Given the description of an element on the screen output the (x, y) to click on. 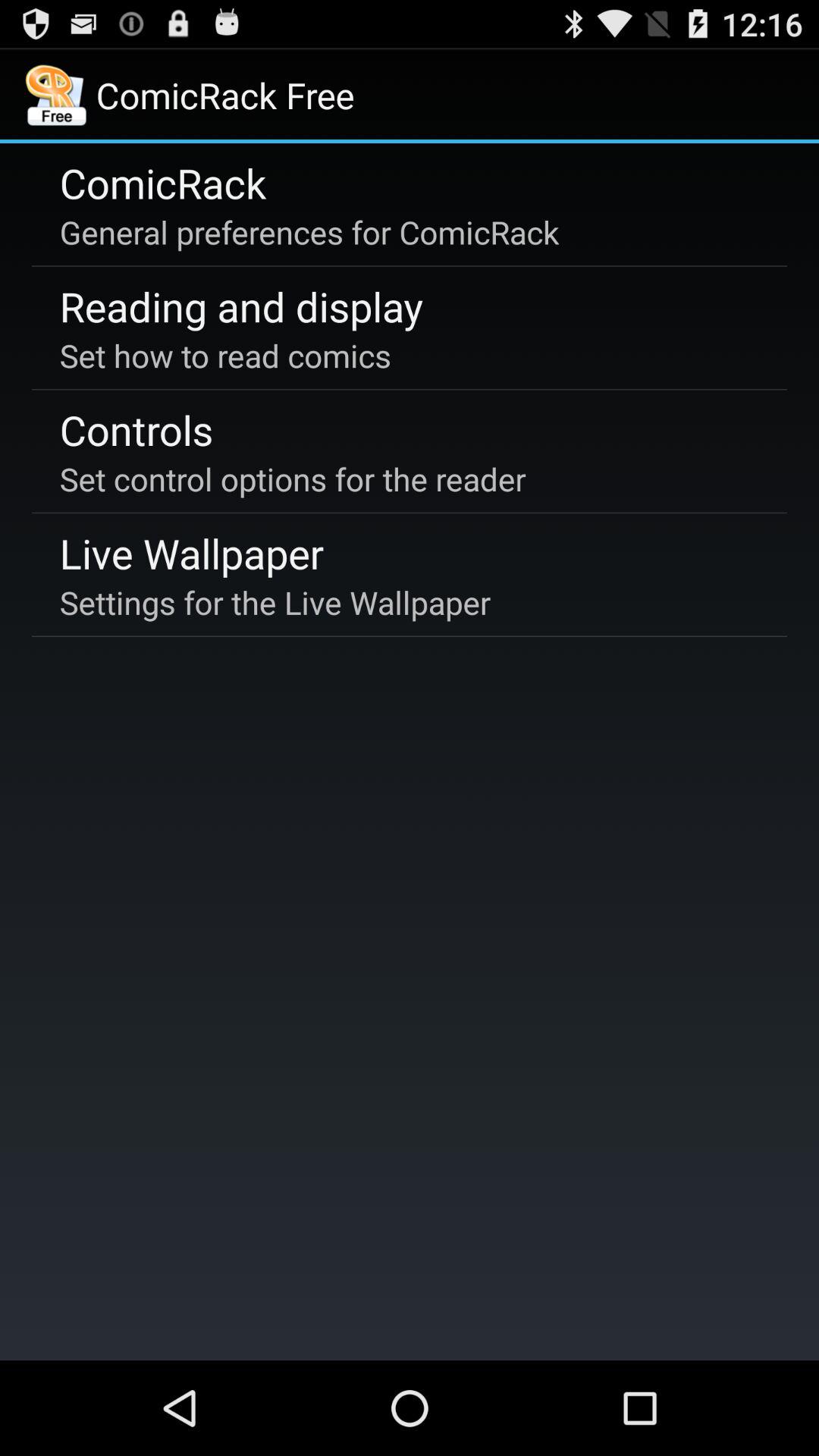
turn on app above the set control options item (136, 429)
